Given the description of an element on the screen output the (x, y) to click on. 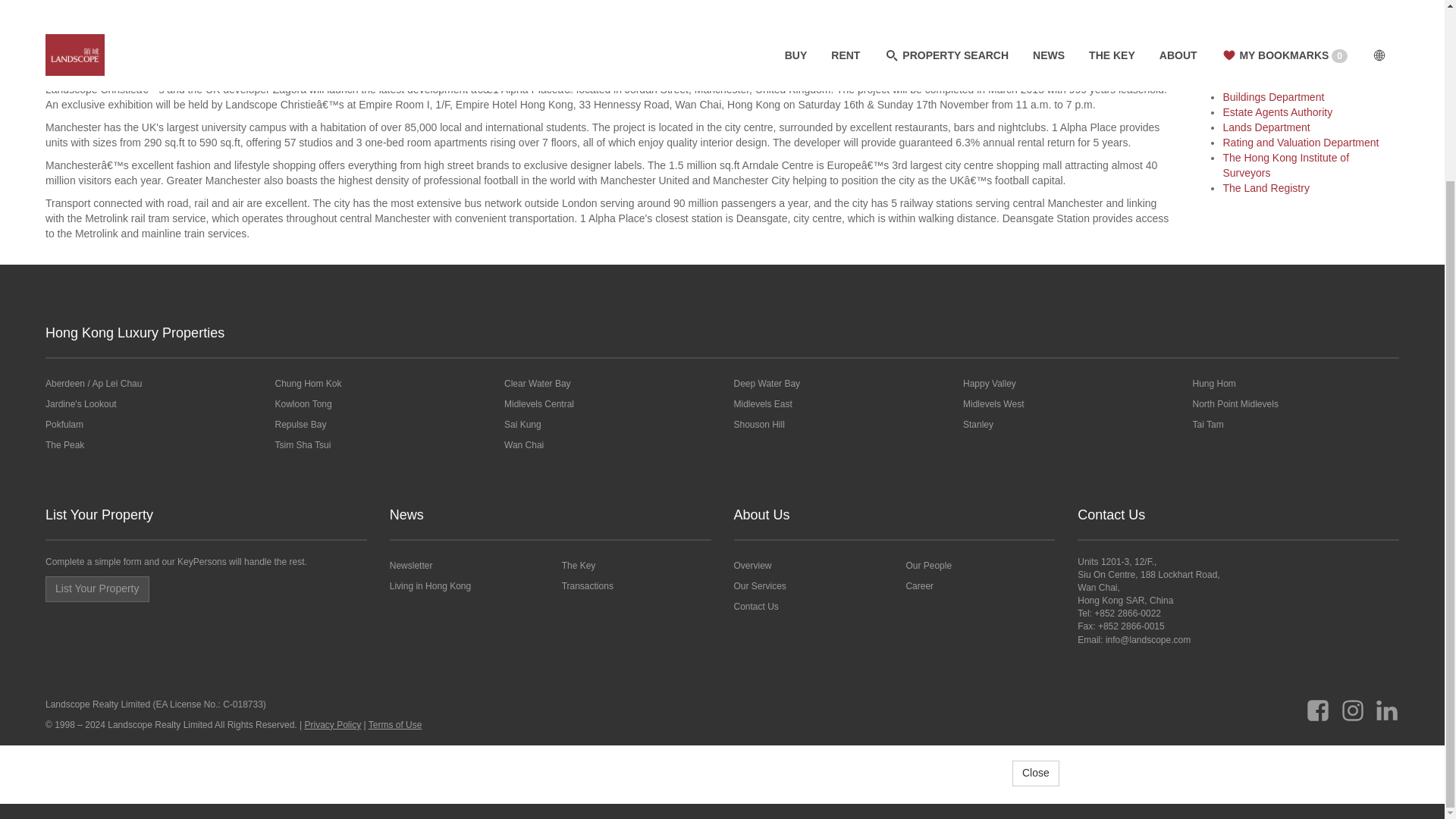
Our Facebook (1318, 704)
Our Linkedin (1386, 704)
Our Instagram (1352, 704)
